Given the description of an element on the screen output the (x, y) to click on. 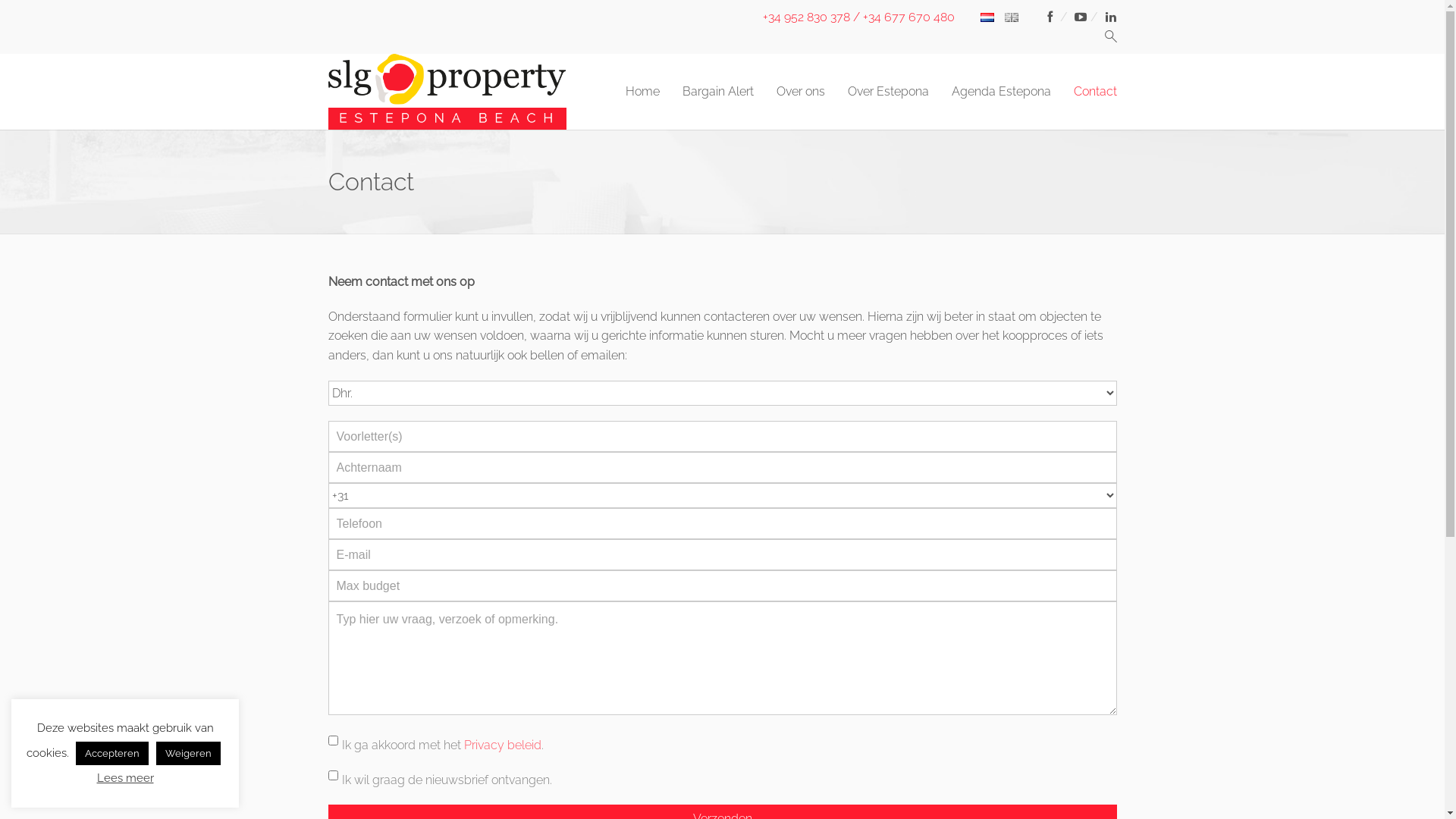
Contact Element type: text (1095, 91)
Weigeren Element type: text (188, 753)
Privacy beleid Element type: text (502, 744)
Over Estepona Element type: text (887, 91)
Log In Element type: text (721, 229)
Accepteren Element type: text (111, 753)
Home Element type: text (641, 91)
Lees meer Element type: text (125, 777)
Bargain Alert Element type: text (717, 91)
Over ons Element type: text (800, 91)
Agenda Estepona Element type: text (1000, 91)
